Given the description of an element on the screen output the (x, y) to click on. 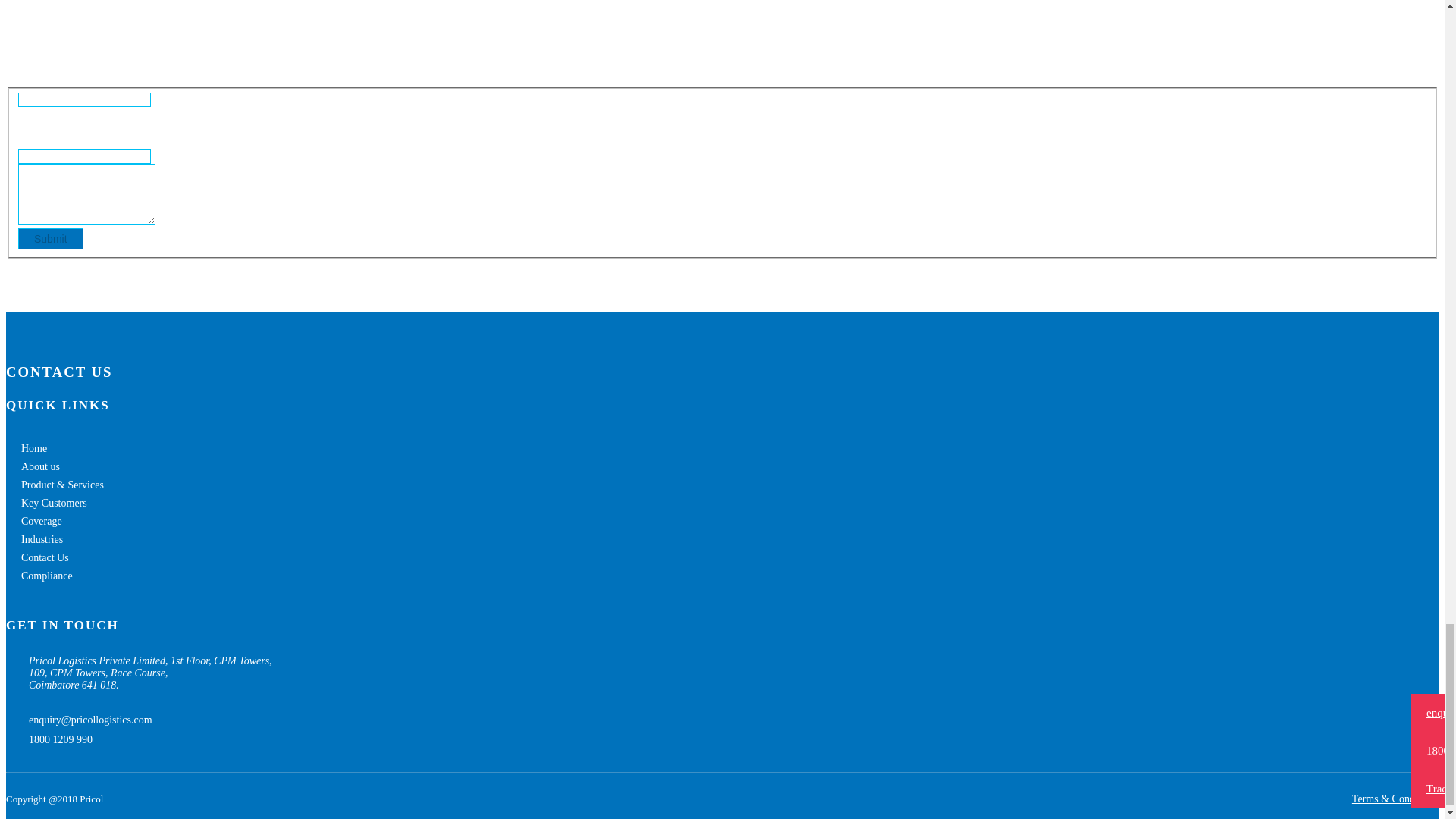
About us (40, 466)
Industries (41, 539)
Submit (49, 238)
Home (33, 448)
Key Customers (54, 502)
Coverage (41, 521)
